Given the description of an element on the screen output the (x, y) to click on. 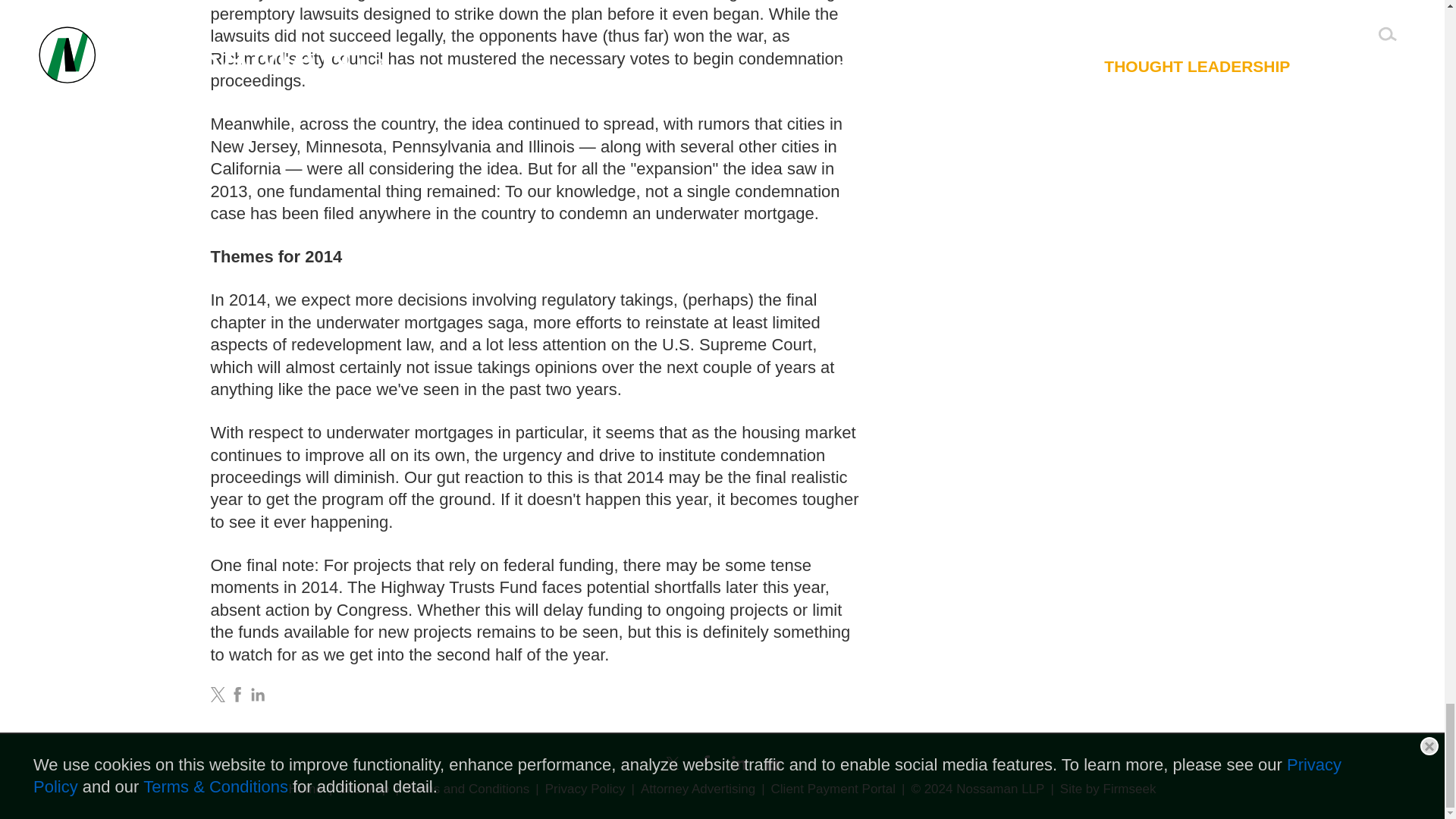
Share on LinkedIn (257, 694)
Share on Twitter (218, 694)
Share on Facebook (237, 694)
